Given the description of an element on the screen output the (x, y) to click on. 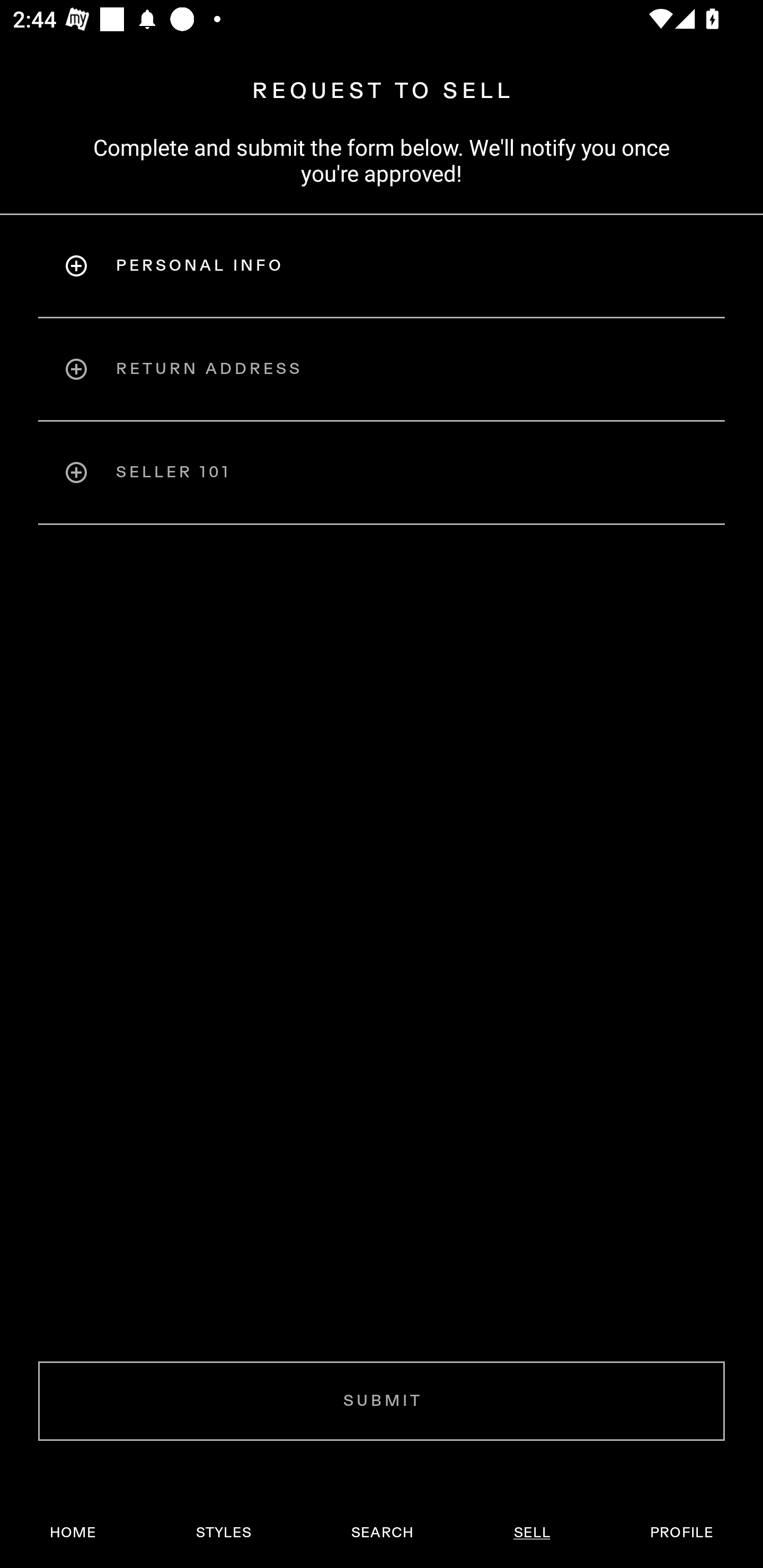
PERSONAL INFO (381, 265)
RETURN ADDRESS (381, 369)
SELLER 101 (381, 472)
SUBMIT (381, 1400)
HOME (72, 1532)
STYLES (222, 1532)
SEARCH (381, 1532)
SELL (531, 1532)
PROFILE (681, 1532)
